Given the description of an element on the screen output the (x, y) to click on. 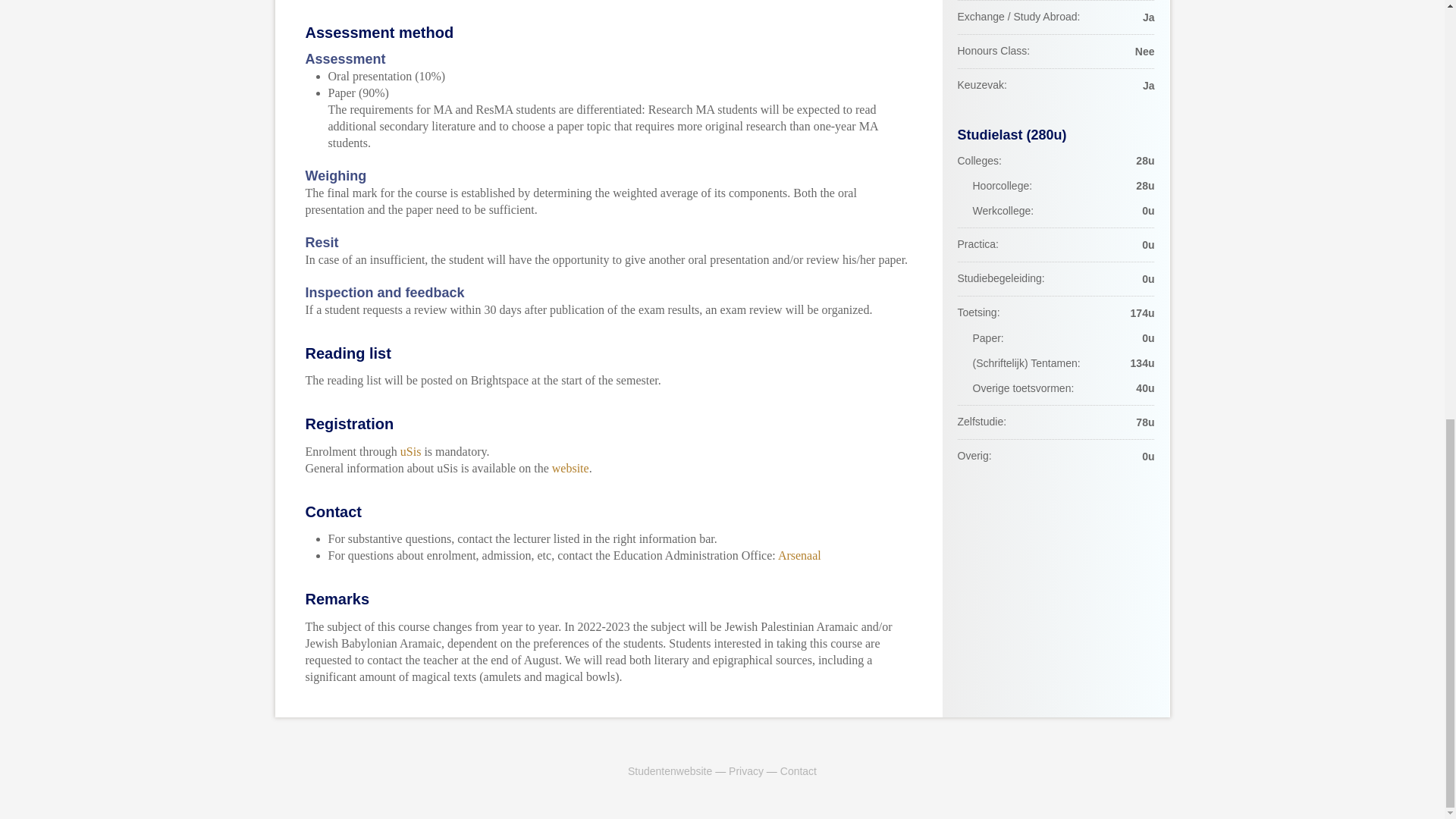
Privacy (745, 770)
Arsenaal (799, 554)
website (570, 468)
Studentenwebsite (669, 770)
Contact (798, 770)
uSis (411, 451)
